Given the description of an element on the screen output the (x, y) to click on. 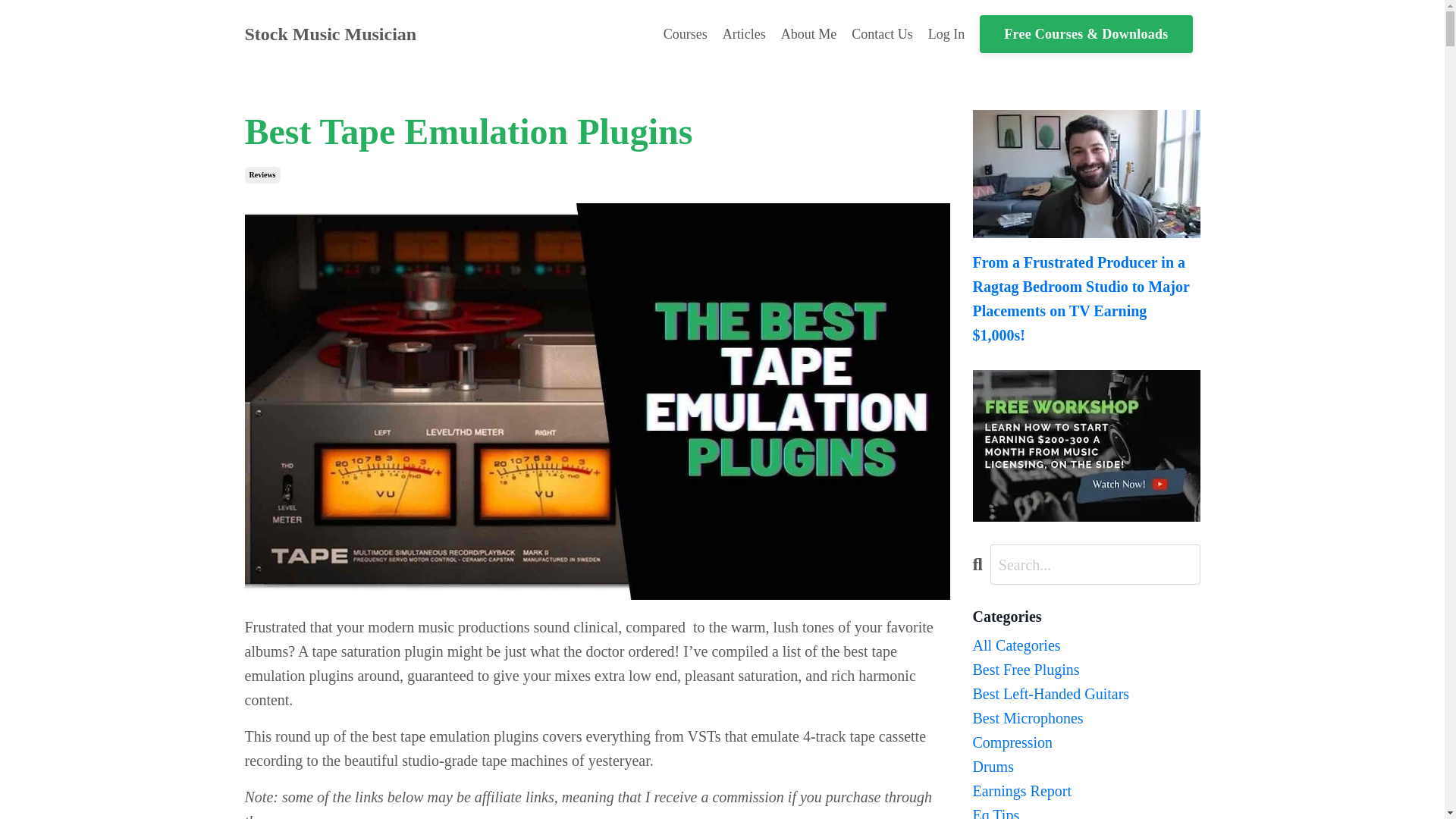
Stock Music Musician (330, 34)
Log In (946, 33)
Reviews (261, 175)
Courses (685, 34)
Contact Us (881, 34)
Articles (743, 34)
About Me (808, 34)
